Given the description of an element on the screen output the (x, y) to click on. 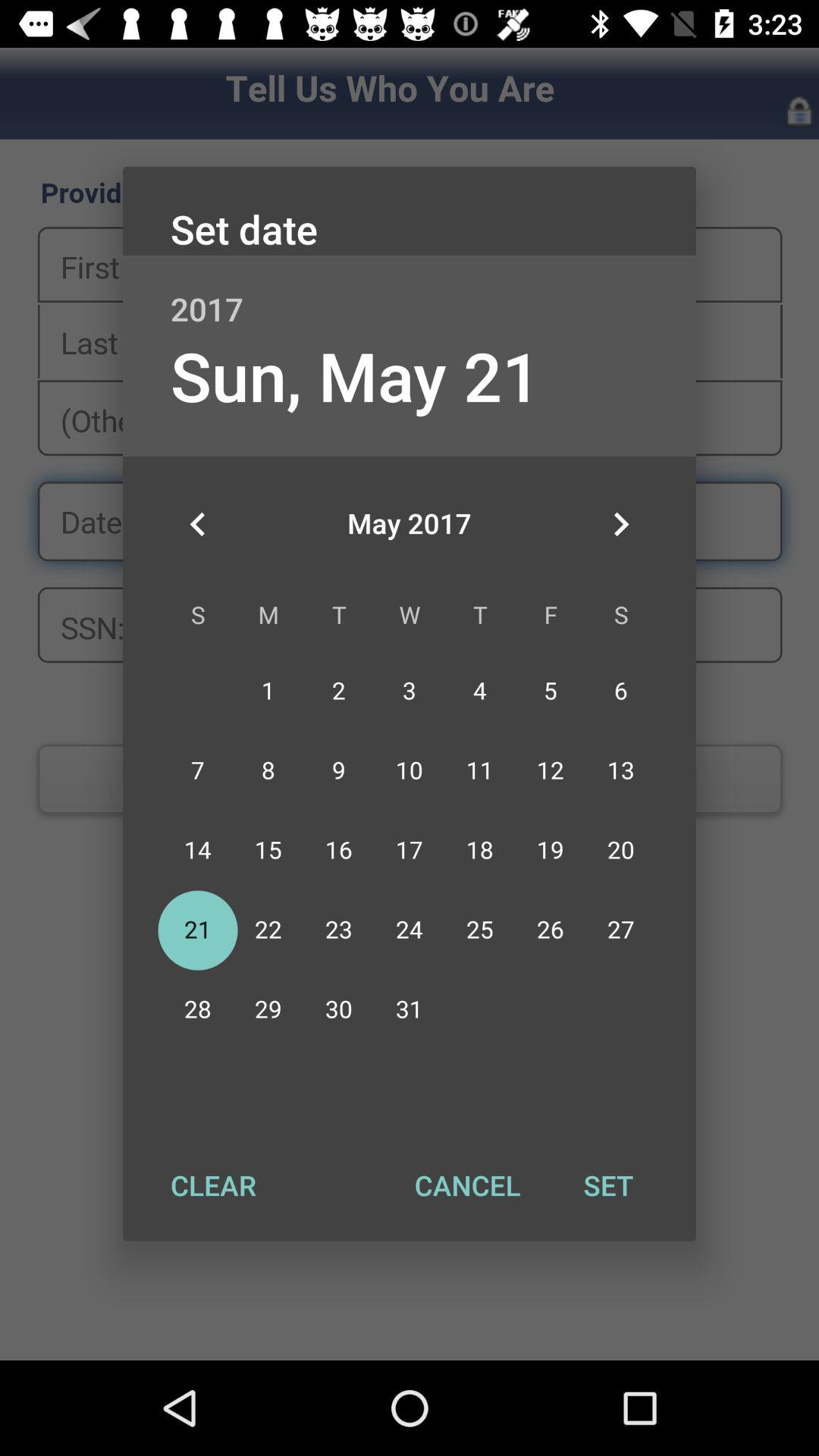
turn on icon on the left (197, 524)
